Given the description of an element on the screen output the (x, y) to click on. 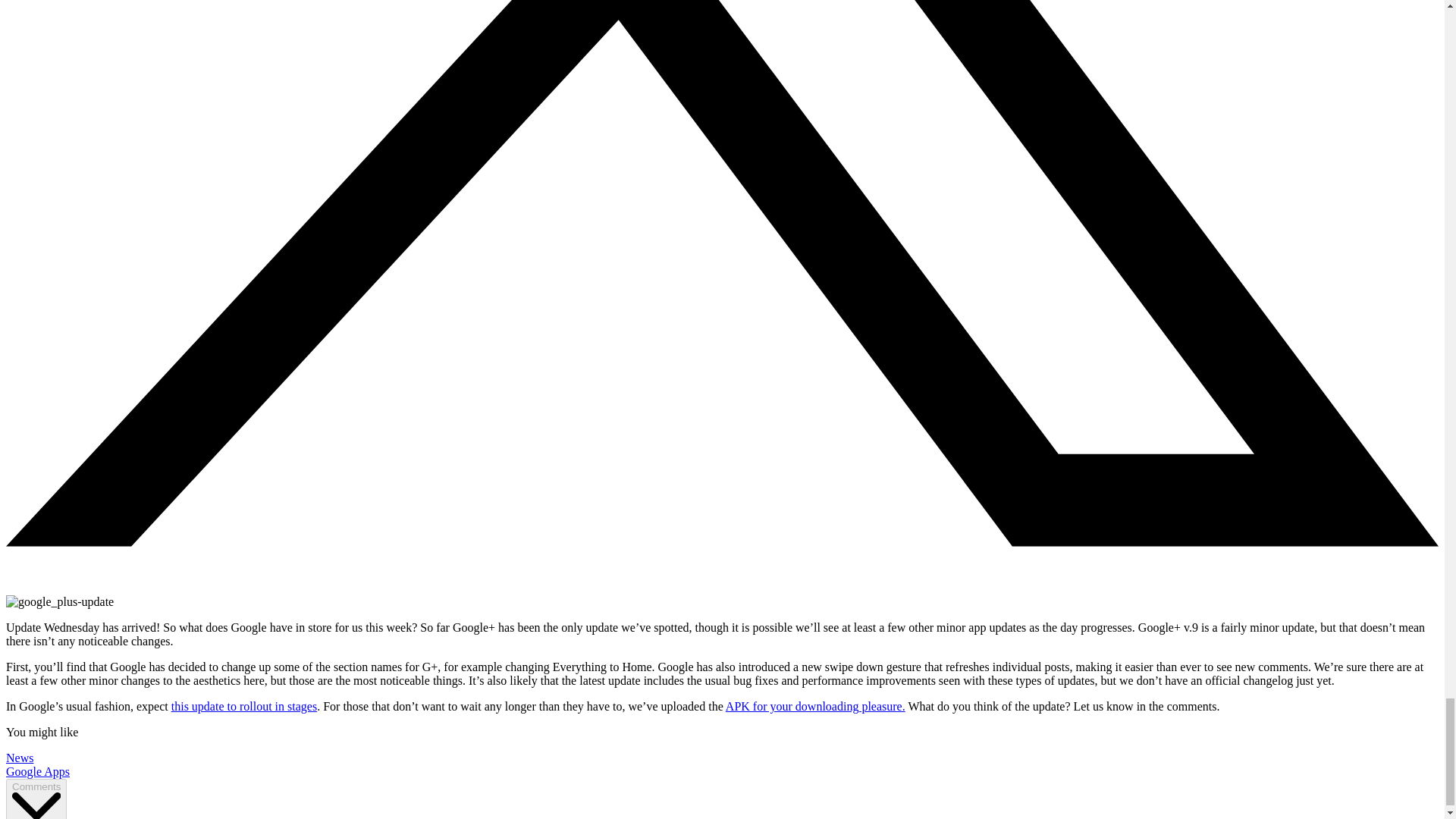
News (19, 757)
Google Apps (37, 771)
APK for your downloading pleasure. (815, 706)
this update to rollout in stages (244, 706)
